Given the description of an element on the screen output the (x, y) to click on. 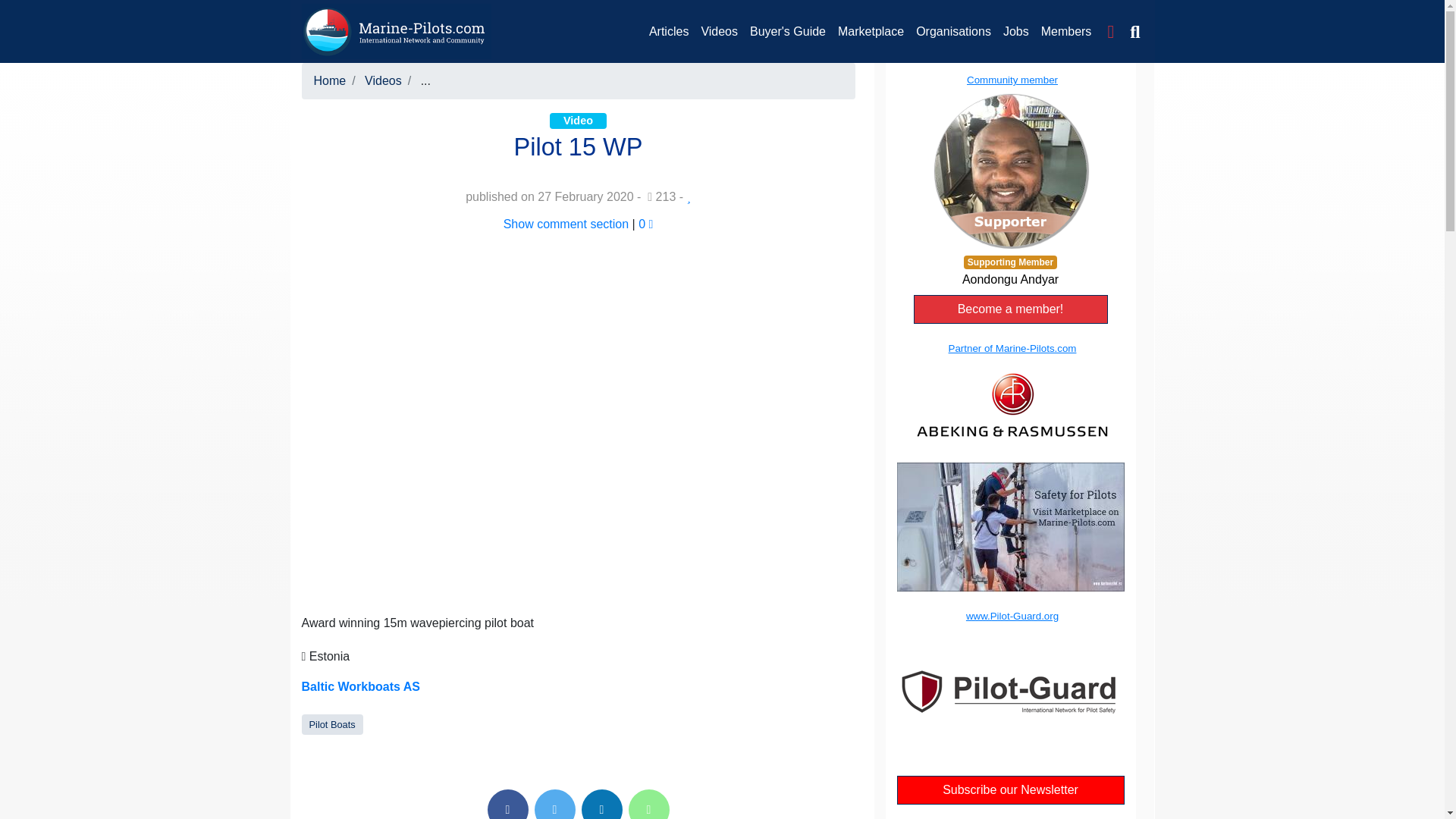
Articles (668, 31)
Members (1066, 31)
all-time page views (661, 196)
Organisations (953, 31)
Show comment section (565, 223)
Buyer's Guide (787, 31)
Videos (719, 31)
Pilot Boats (331, 724)
Community member (1009, 159)
Baltic Workboats AS (360, 687)
